Given the description of an element on the screen output the (x, y) to click on. 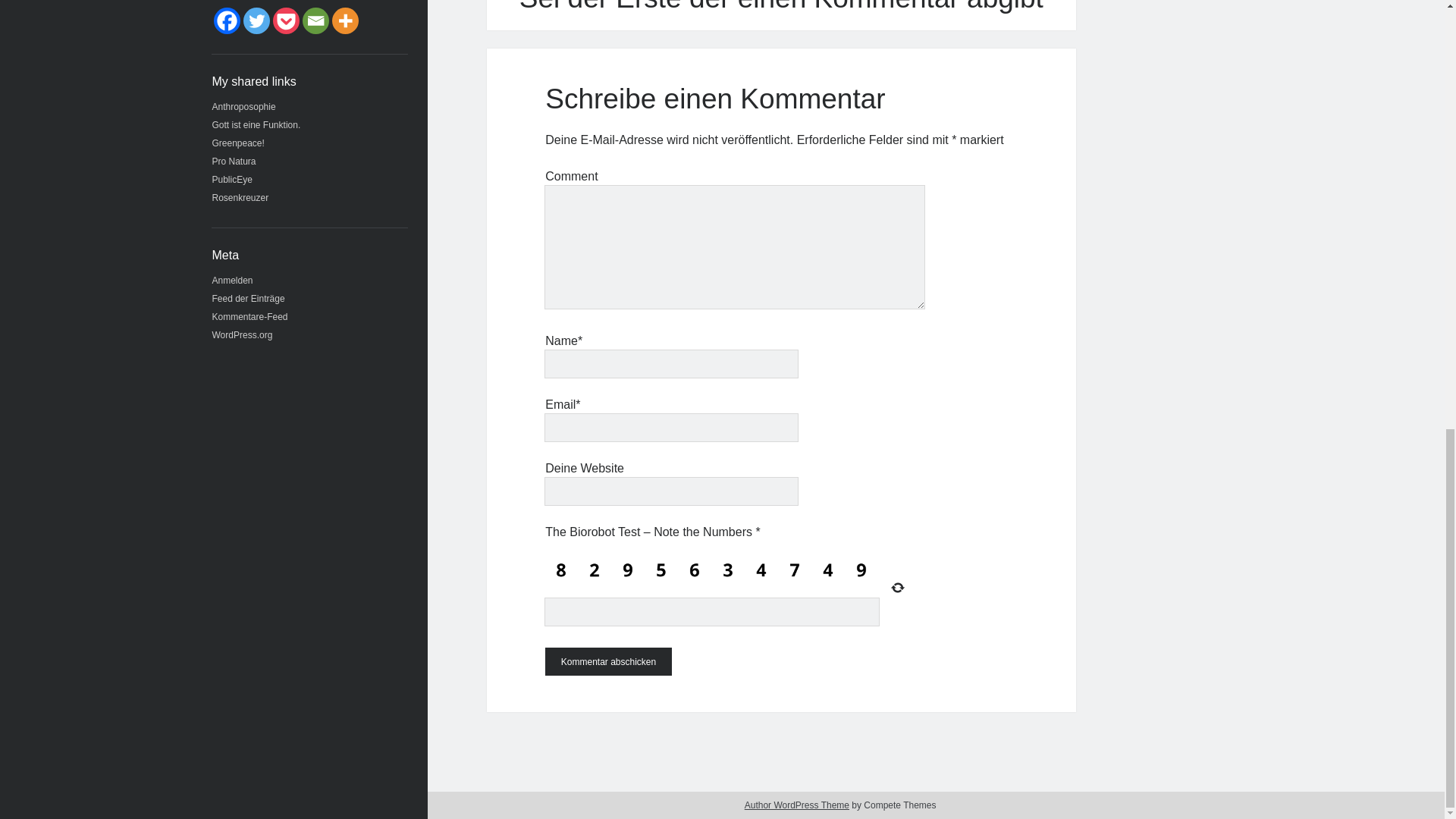
Email (315, 20)
Pocket (286, 20)
Startpunkt zur Anthroposophie (244, 106)
Kommentar abschicken (607, 661)
Facebook (227, 20)
Twitter (256, 20)
Become a member! (238, 143)
More (344, 20)
